Given the description of an element on the screen output the (x, y) to click on. 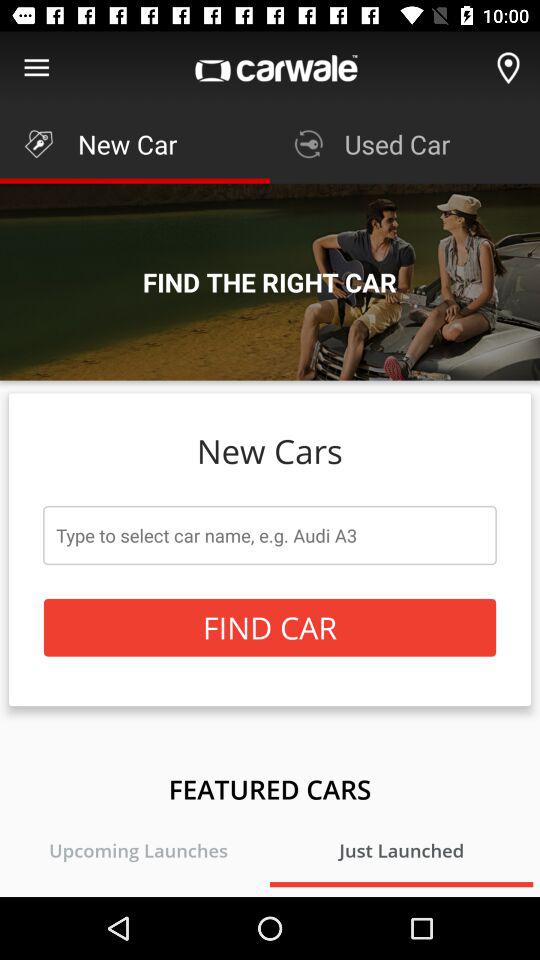
main menu button (36, 68)
